Given the description of an element on the screen output the (x, y) to click on. 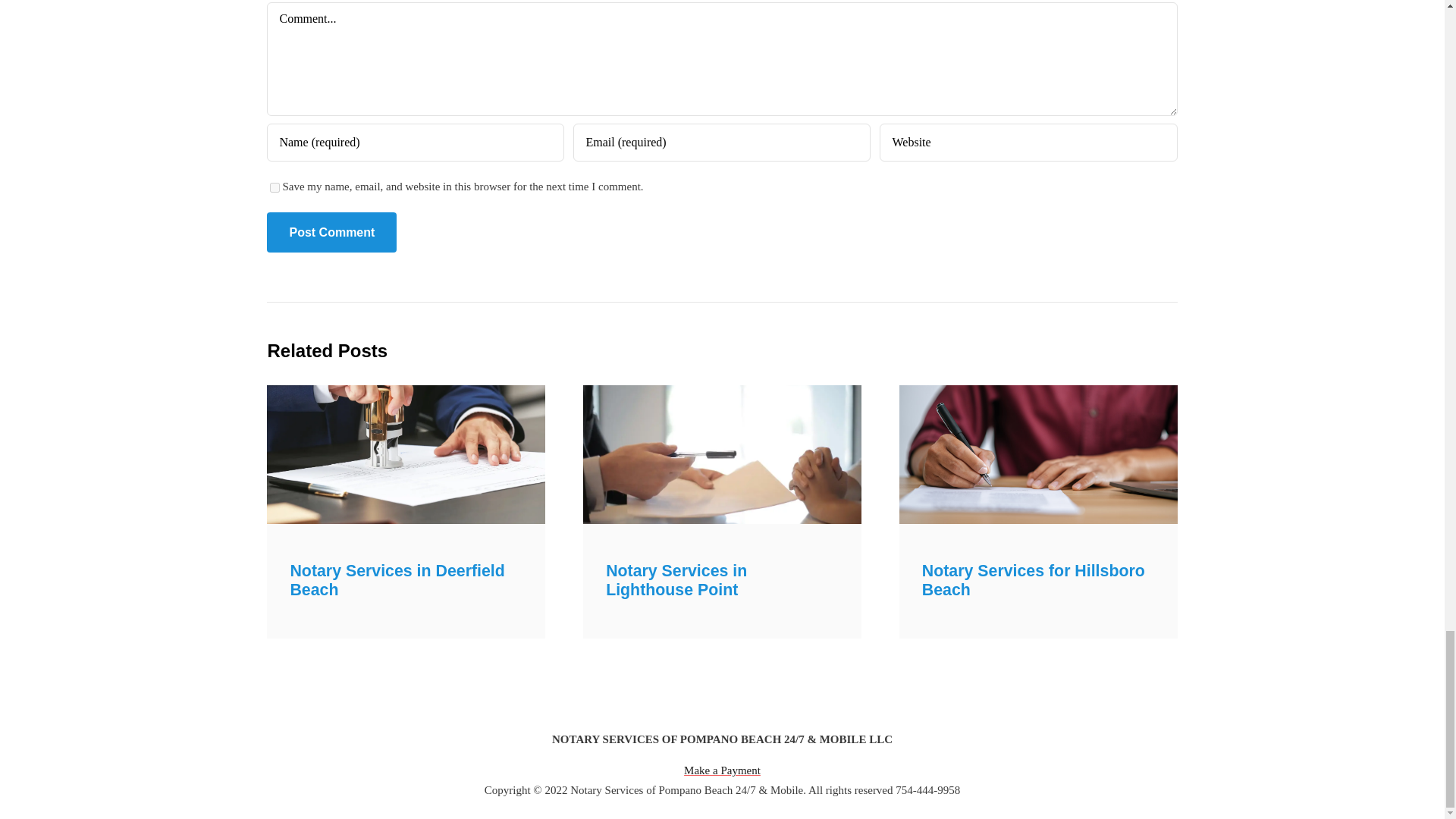
Post Comment (331, 232)
Notary Services for Hillsboro Beach (1032, 580)
Post Comment (331, 232)
Notary Services in Deerfield Beach (396, 580)
Notary Services in Lighthouse Point (675, 580)
yes (274, 187)
Make a Payment (722, 770)
